Given the description of an element on the screen output the (x, y) to click on. 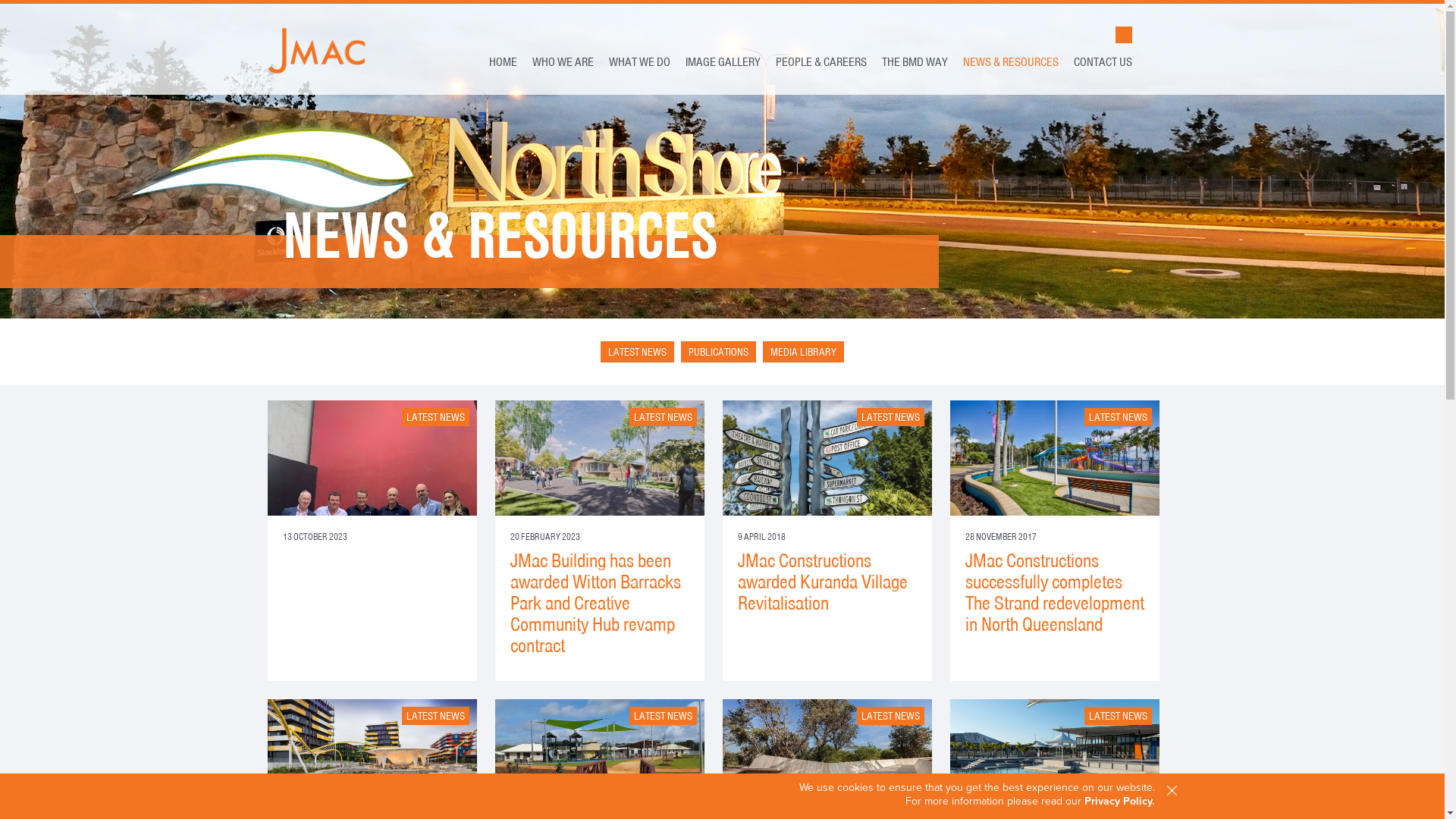
LATEST NEWS Element type: text (662, 715)
THE BMD WAY Element type: text (914, 61)
CONTACT US Element type: text (1102, 61)
HOME Element type: text (502, 61)
WHO WE ARE Element type: text (562, 61)
PEOPLE & CAREERS Element type: text (820, 61)
LATEST NEWS Element type: text (1117, 416)
MEDIA LIBRARY Element type: text (803, 351)
Go Element type: text (1060, 34)
LATEST NEWS Element type: text (637, 351)
13 OCTOBER 2023 Element type: text (371, 486)
Privacy Policy. Element type: text (1119, 800)
LATEST NEWS Element type: text (435, 416)
LATEST NEWS Element type: text (1117, 715)
LATEST NEWS Element type: text (890, 416)
WHAT WE DO Element type: text (638, 61)
IMAGE GALLERY Element type: text (722, 61)
NEWS & RESOURCES Element type: text (1010, 61)
PUBLICATIONS Element type: text (718, 351)
LATEST NEWS Element type: text (662, 416)
LATEST NEWS Element type: text (435, 715)
LATEST NEWS Element type: text (890, 715)
